Given the description of an element on the screen output the (x, y) to click on. 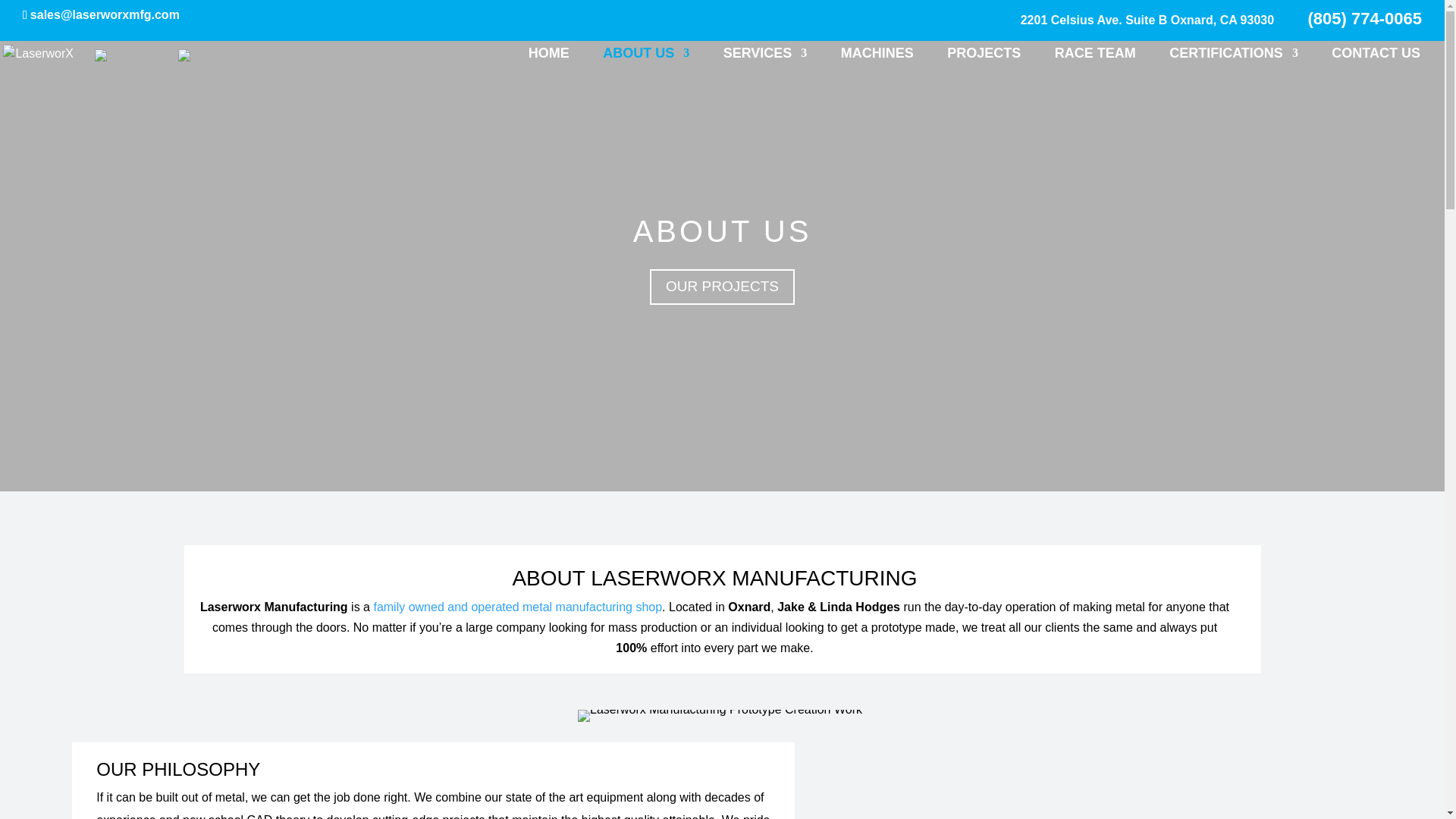
HOME (548, 65)
MACHINES (877, 65)
CONTACT US (1376, 65)
family owned and operated metal manufacturing shop (517, 606)
RACE TEAM (1094, 65)
ABOUT US (1147, 25)
CERTIFICATIONS (645, 65)
PROJECTS (1233, 65)
SERVICES (983, 65)
